Given the description of an element on the screen output the (x, y) to click on. 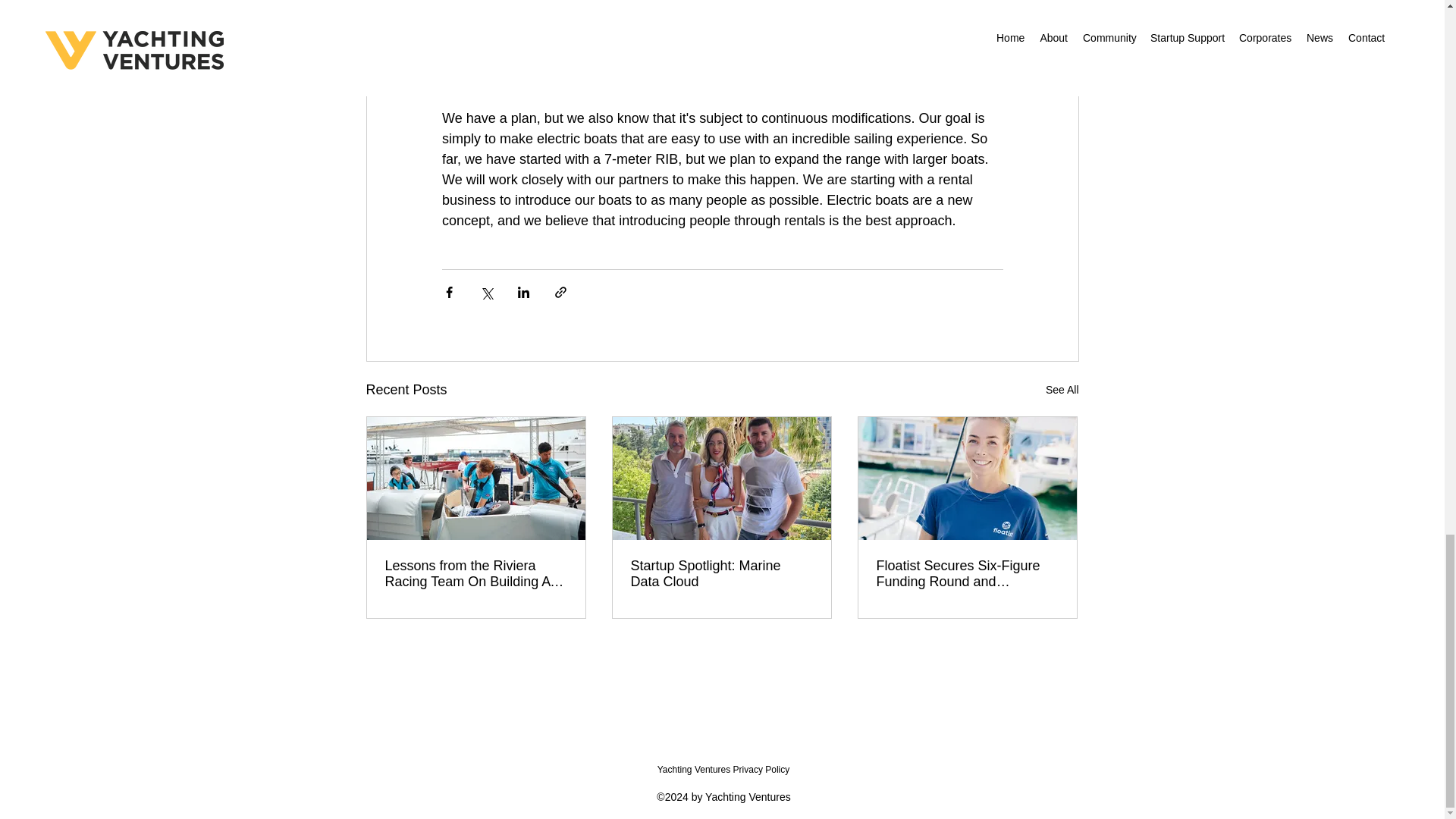
Startup Spotlight: Marine Data Cloud (721, 573)
Yachting Ventures Privacy Policy (724, 769)
See All (1061, 390)
